Given the description of an element on the screen output the (x, y) to click on. 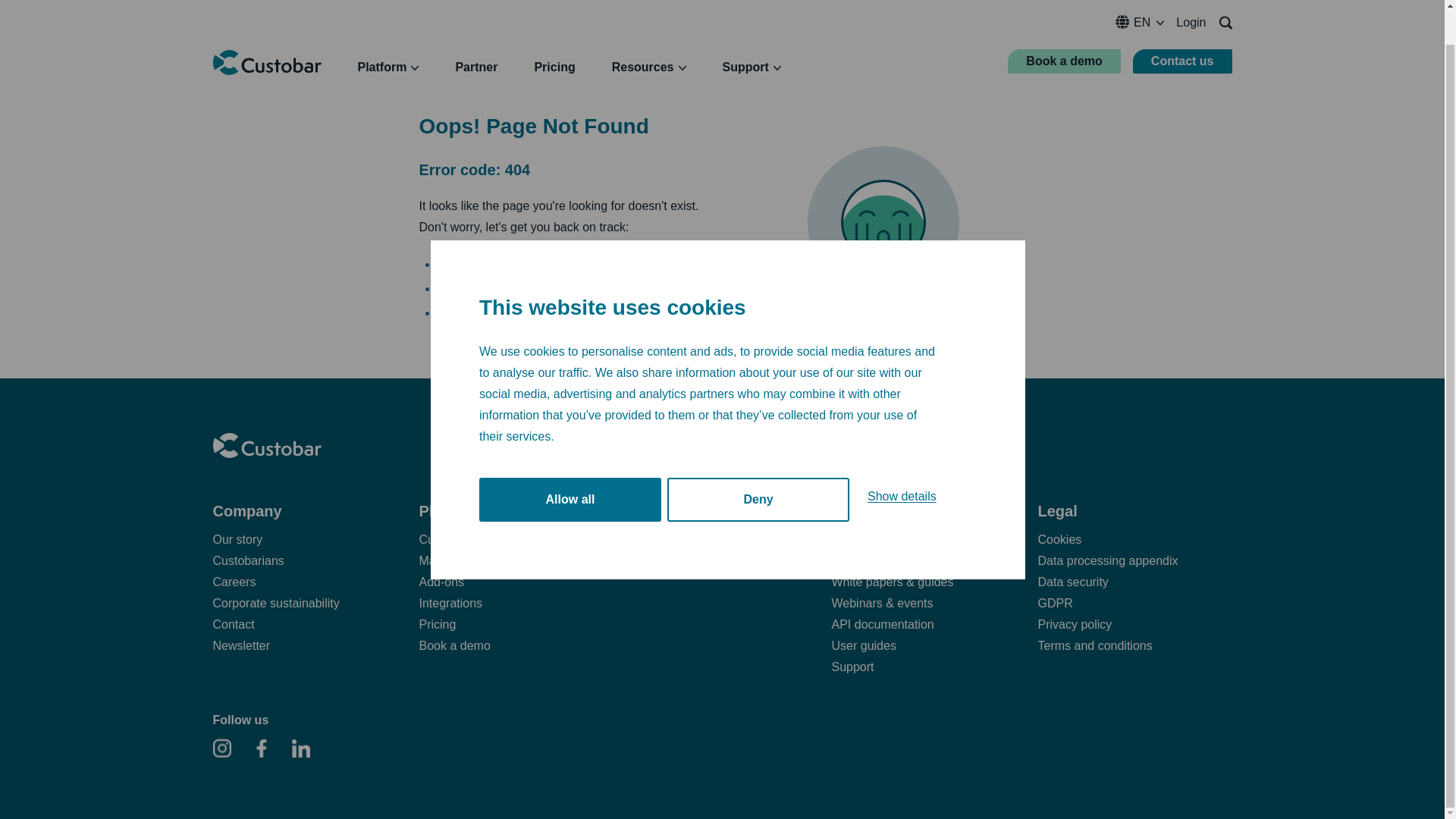
Deny (757, 519)
Allow all (570, 530)
Show details (902, 509)
